Given the description of an element on the screen output the (x, y) to click on. 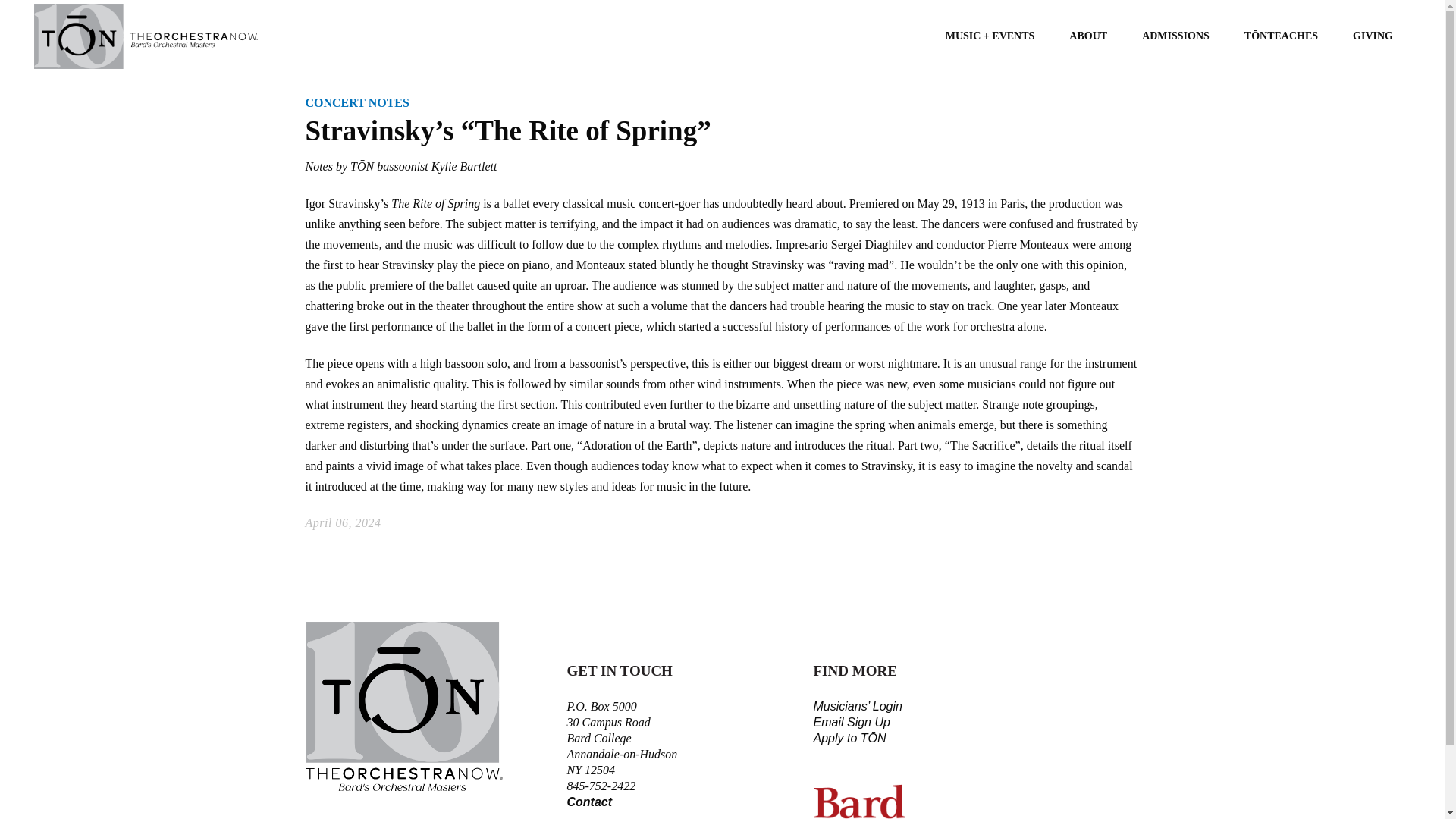
ABOUT (1087, 36)
GIVING (1372, 36)
ADMISSIONS (1175, 36)
